Given the description of an element on the screen output the (x, y) to click on. 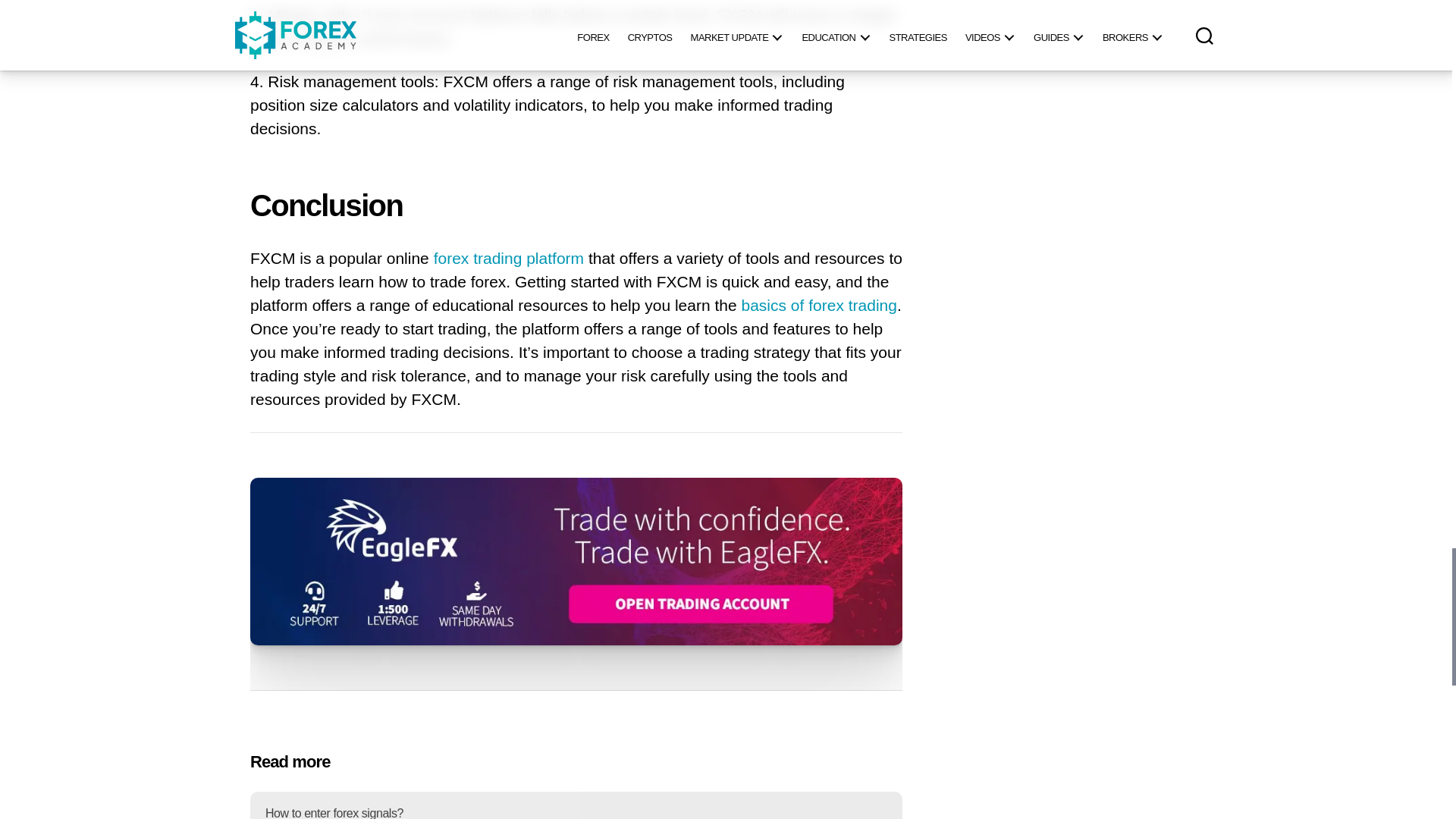
basics of forex trading (818, 305)
forex trading platform (508, 259)
